Given the description of an element on the screen output the (x, y) to click on. 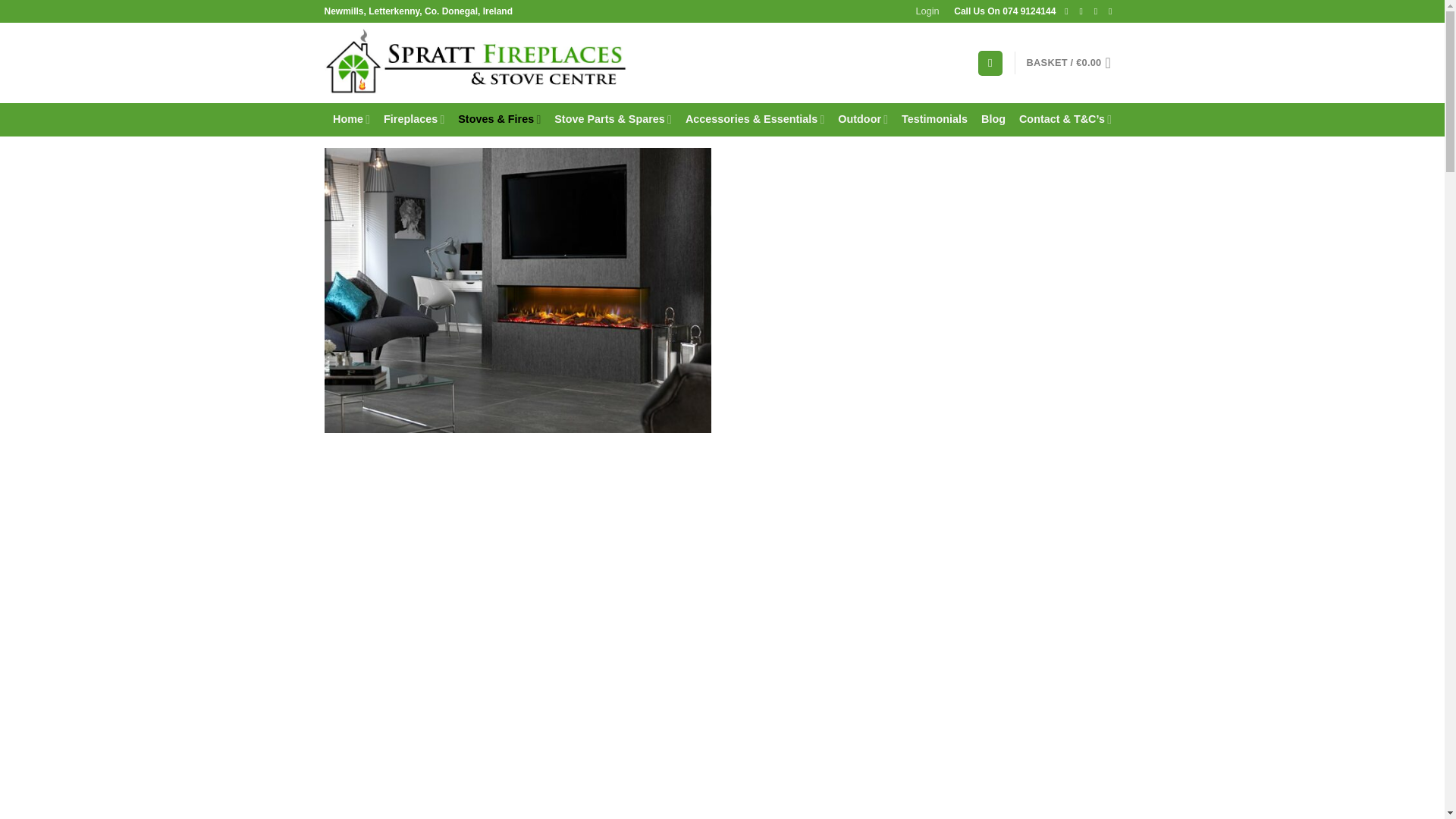
Fireplaces (414, 119)
Basket (1073, 62)
Home (351, 119)
Login (927, 11)
